Given the description of an element on the screen output the (x, y) to click on. 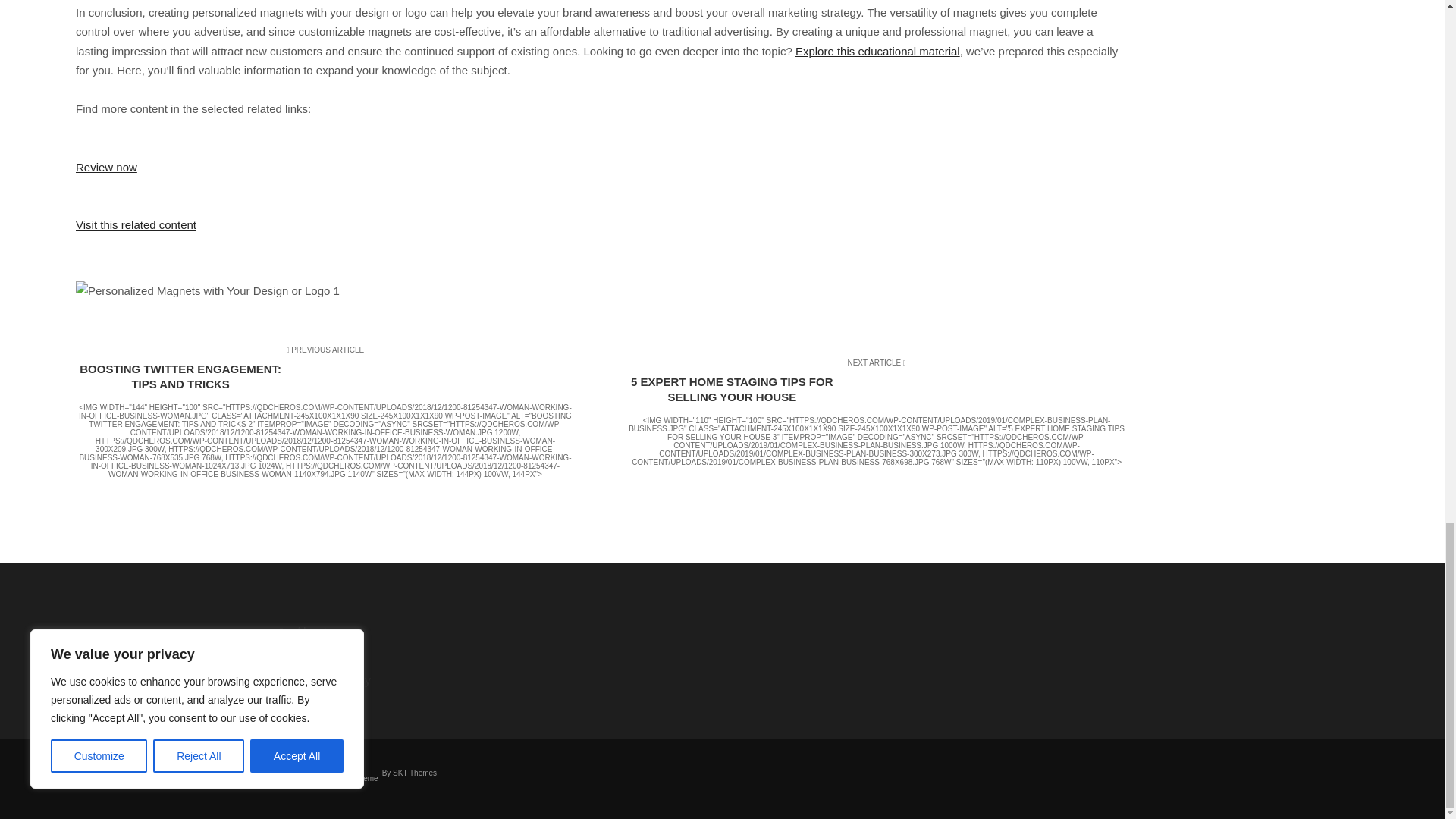
Contact (379, 656)
Review now (105, 166)
About (379, 631)
Visit this related content (135, 224)
Explore this educational material (876, 51)
